Given the description of an element on the screen output the (x, y) to click on. 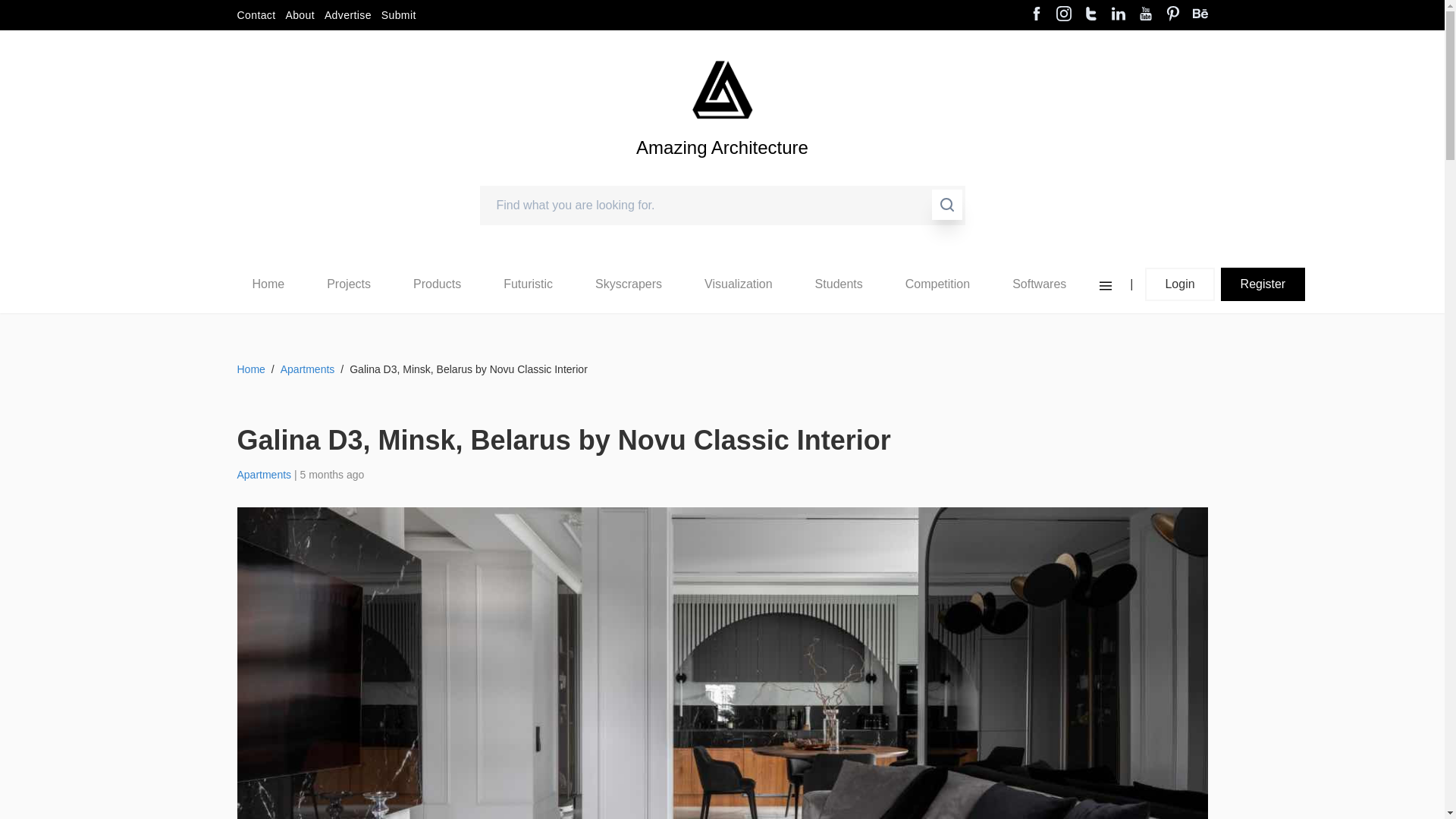
Contact (255, 15)
Home (267, 283)
Projects (348, 284)
Advertisement page (347, 15)
Skyscrapers (628, 283)
Contact us page (255, 15)
About (299, 15)
Projects (348, 283)
Home (267, 284)
Futuristic (528, 283)
